Given the description of an element on the screen output the (x, y) to click on. 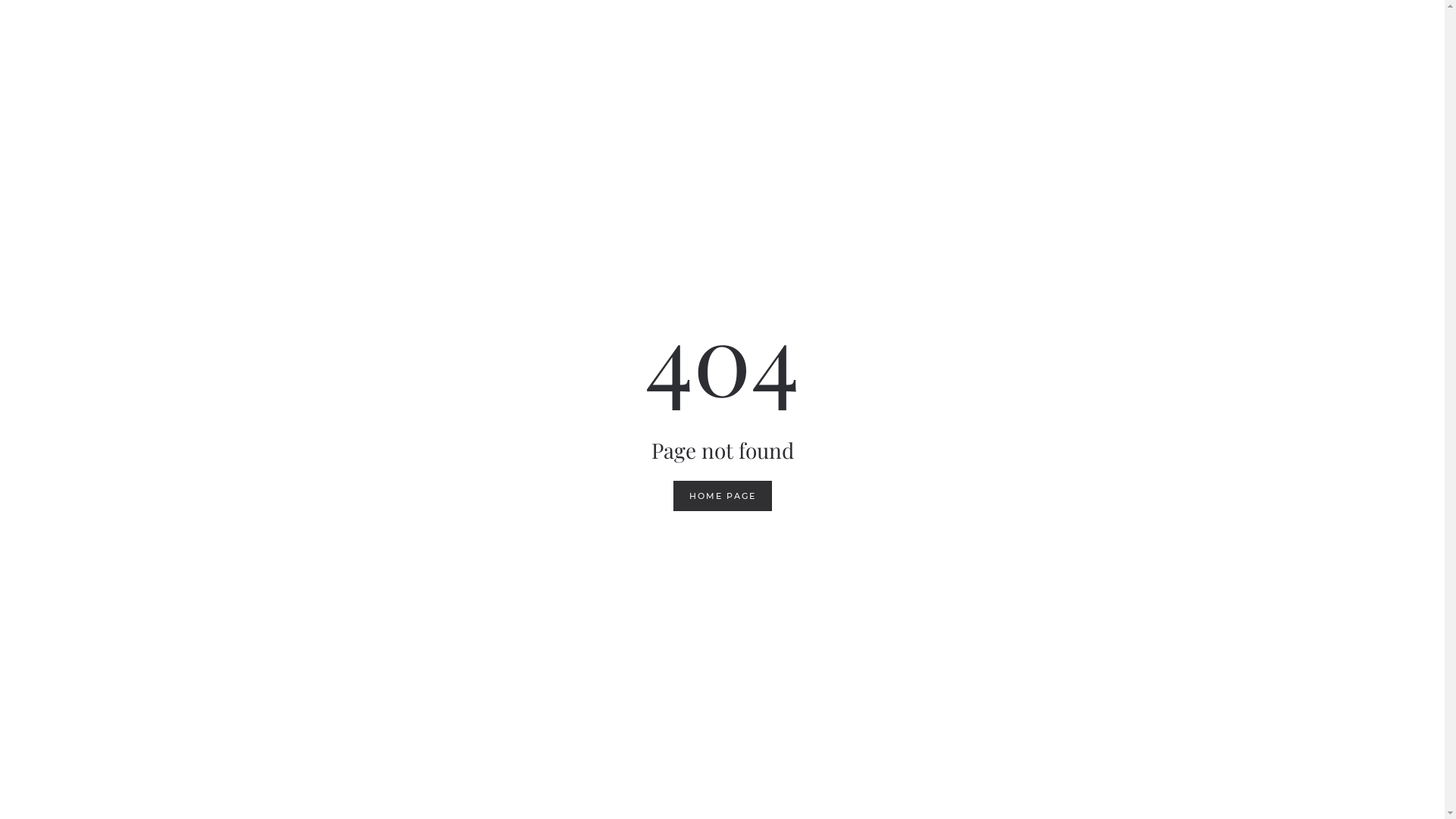
HOME PAGE Element type: text (722, 495)
